Given the description of an element on the screen output the (x, y) to click on. 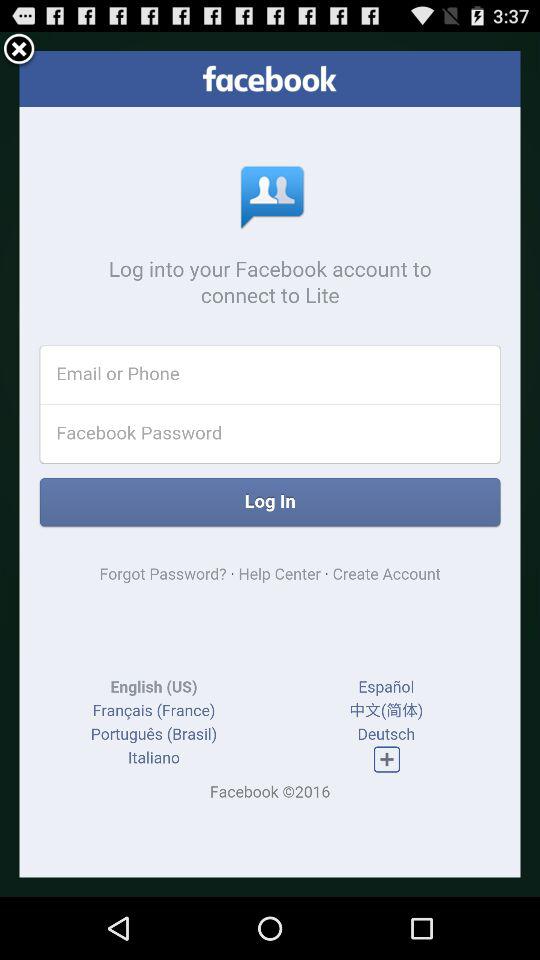
close window (19, 50)
